Given the description of an element on the screen output the (x, y) to click on. 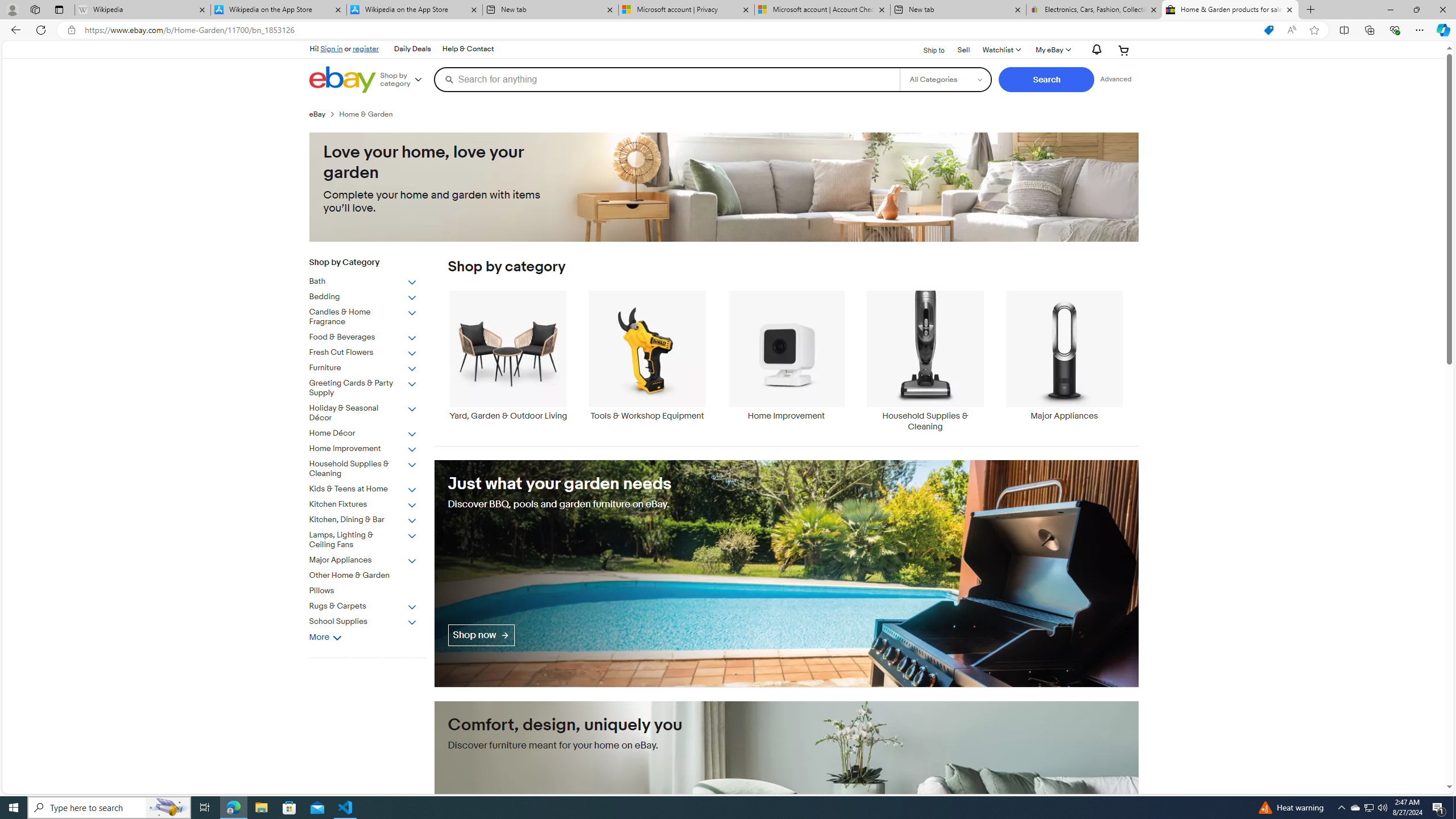
Rugs & Carpets (371, 603)
Greeting Cards & Party Supply (371, 385)
Split screen (1344, 29)
View site information (70, 29)
Shop now (480, 635)
eBay Home (341, 79)
Household Supplies & Cleaning (925, 360)
Help & Contact (467, 49)
register (366, 48)
Kids & Teens at Home (362, 489)
Sign in (331, 48)
Your shopping cart (1123, 49)
Major Appliances (1064, 360)
Search (1046, 79)
